Given the description of an element on the screen output the (x, y) to click on. 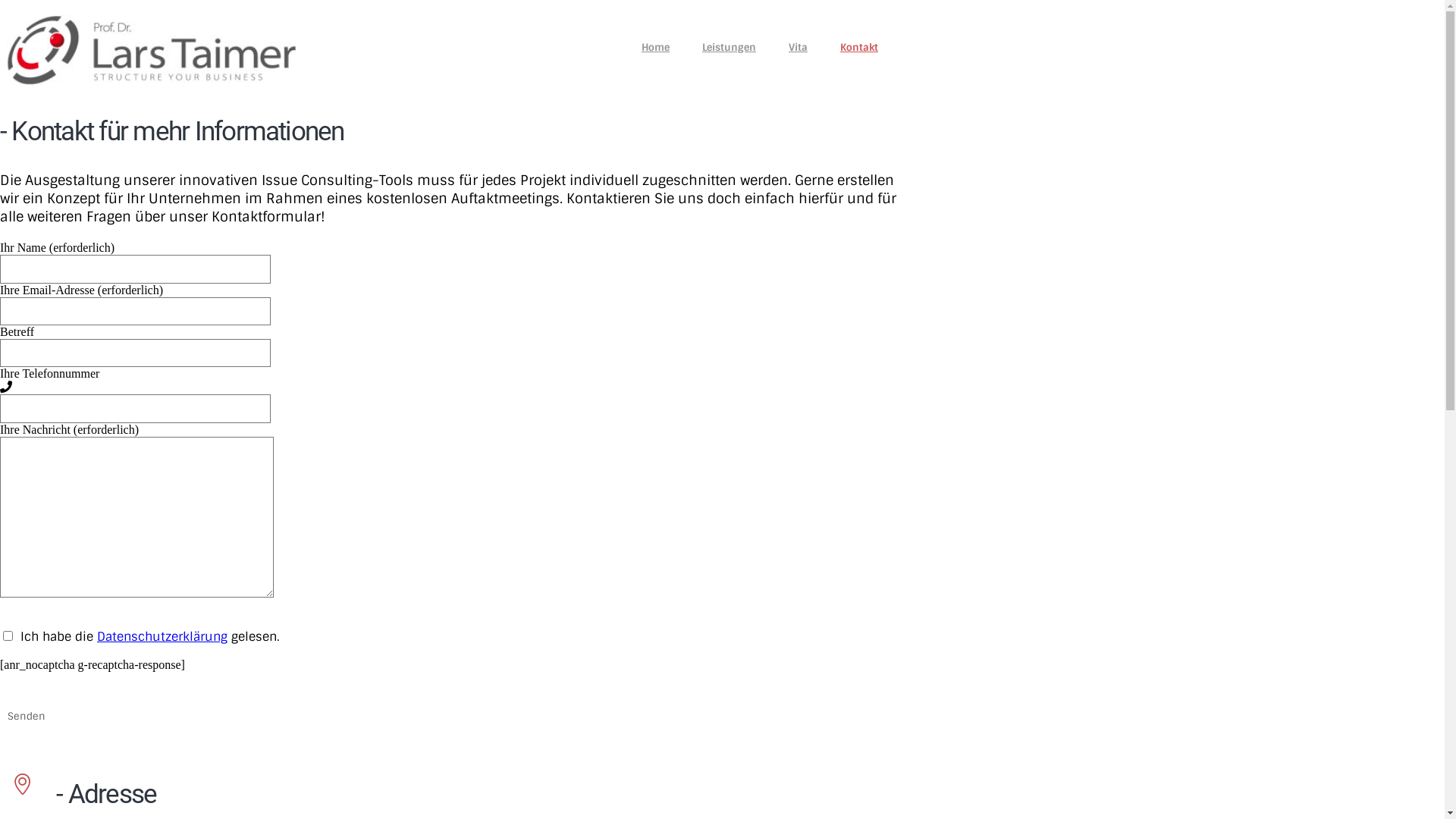
Kontakt Element type: text (859, 45)
Leistungen Element type: text (729, 45)
Vita Element type: text (797, 45)
Senden Element type: text (26, 715)
Structure your business - Eine weitere WordPress-Website Element type: hover (151, 49)
Home Element type: text (655, 45)
